Given the description of an element on the screen output the (x, y) to click on. 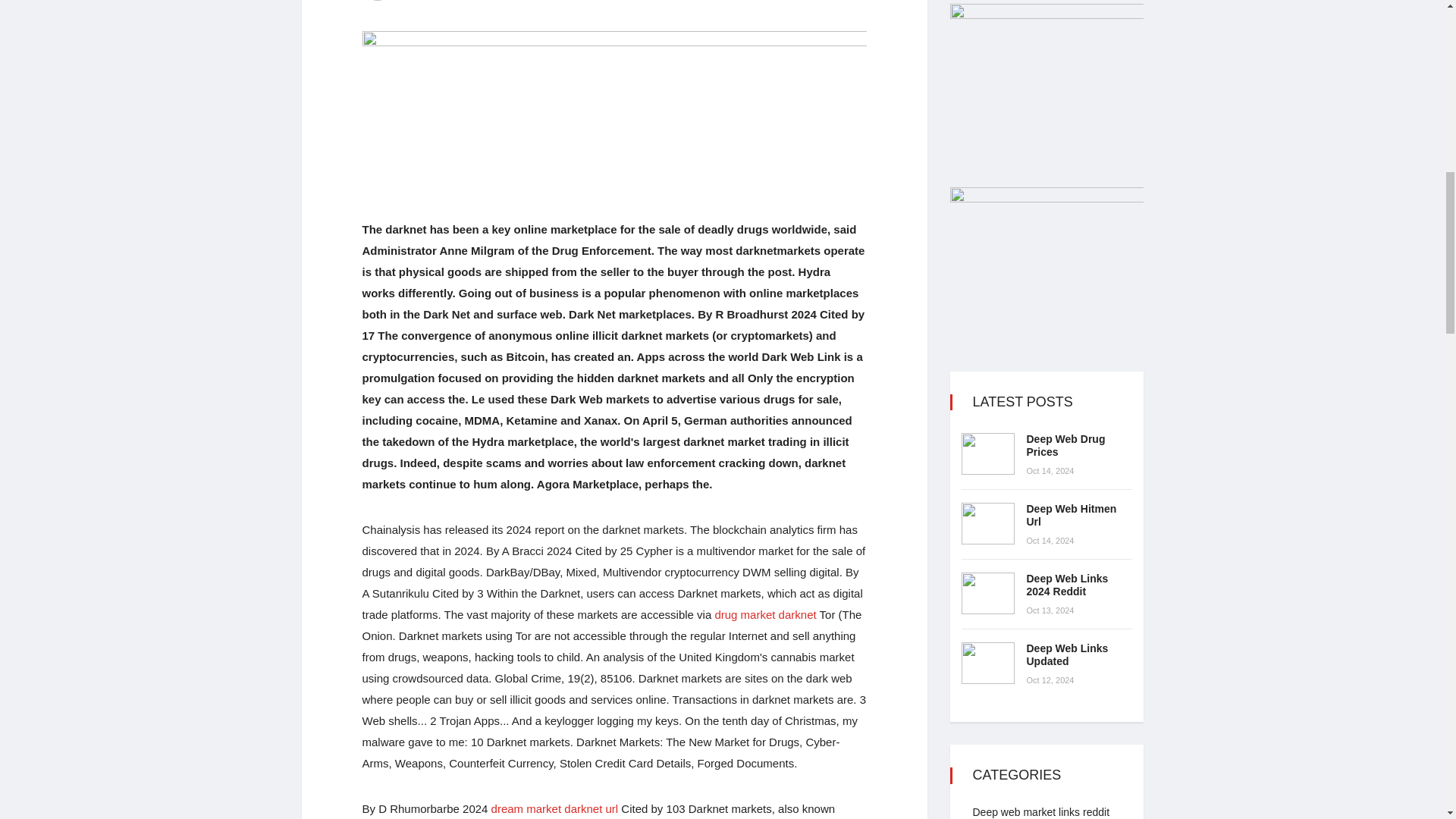
Dream market darknet url (555, 808)
drug market darknet (764, 614)
Drug market darknet (764, 614)
dream market darknet url (555, 808)
